Given the description of an element on the screen output the (x, y) to click on. 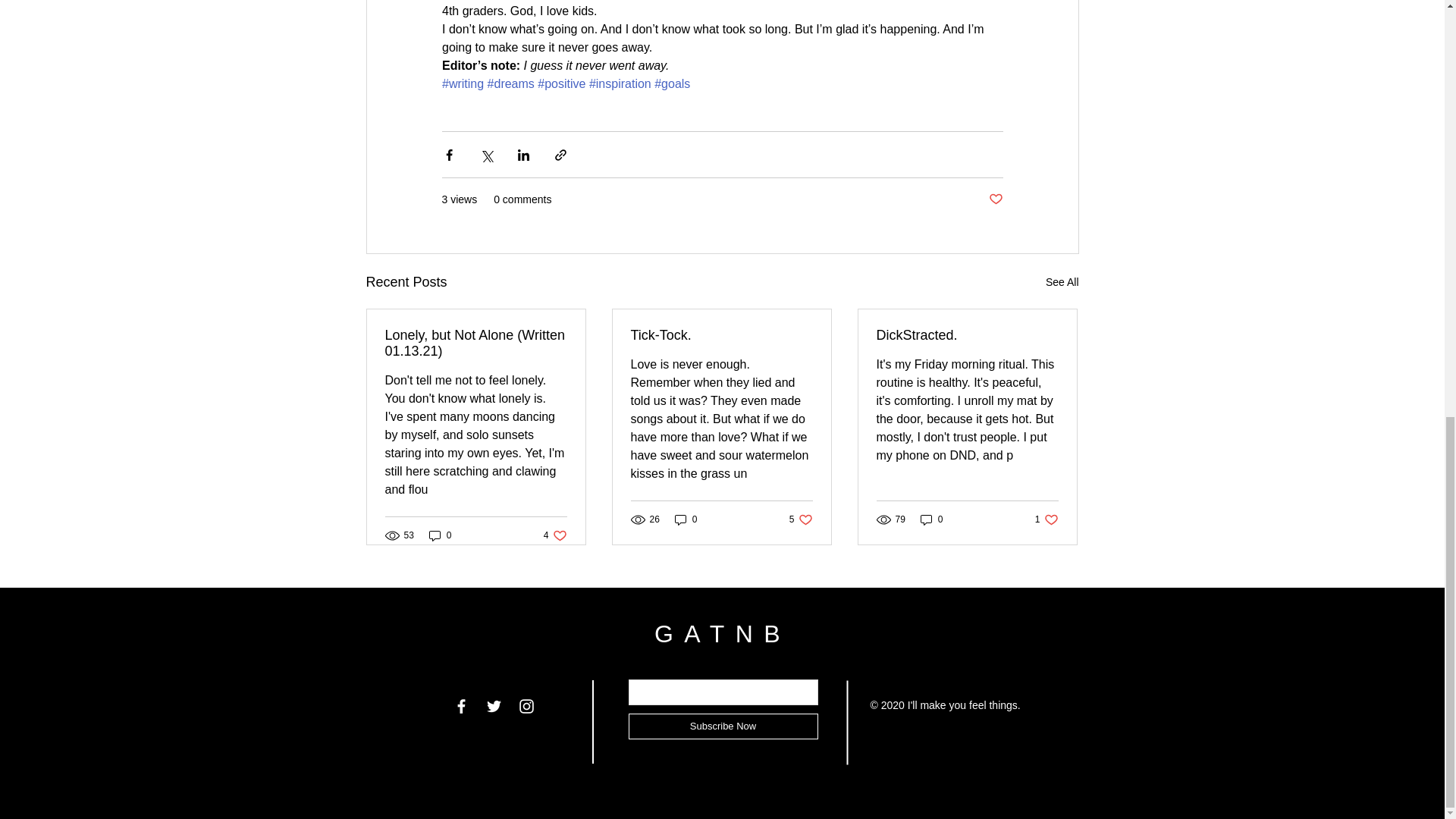
See All (1061, 282)
0 (931, 518)
G A T N B (1013, 585)
Tick-Tock. (555, 535)
0 (800, 518)
Post not marked as liked (721, 335)
DickStracted. (440, 535)
